Given the description of an element on the screen output the (x, y) to click on. 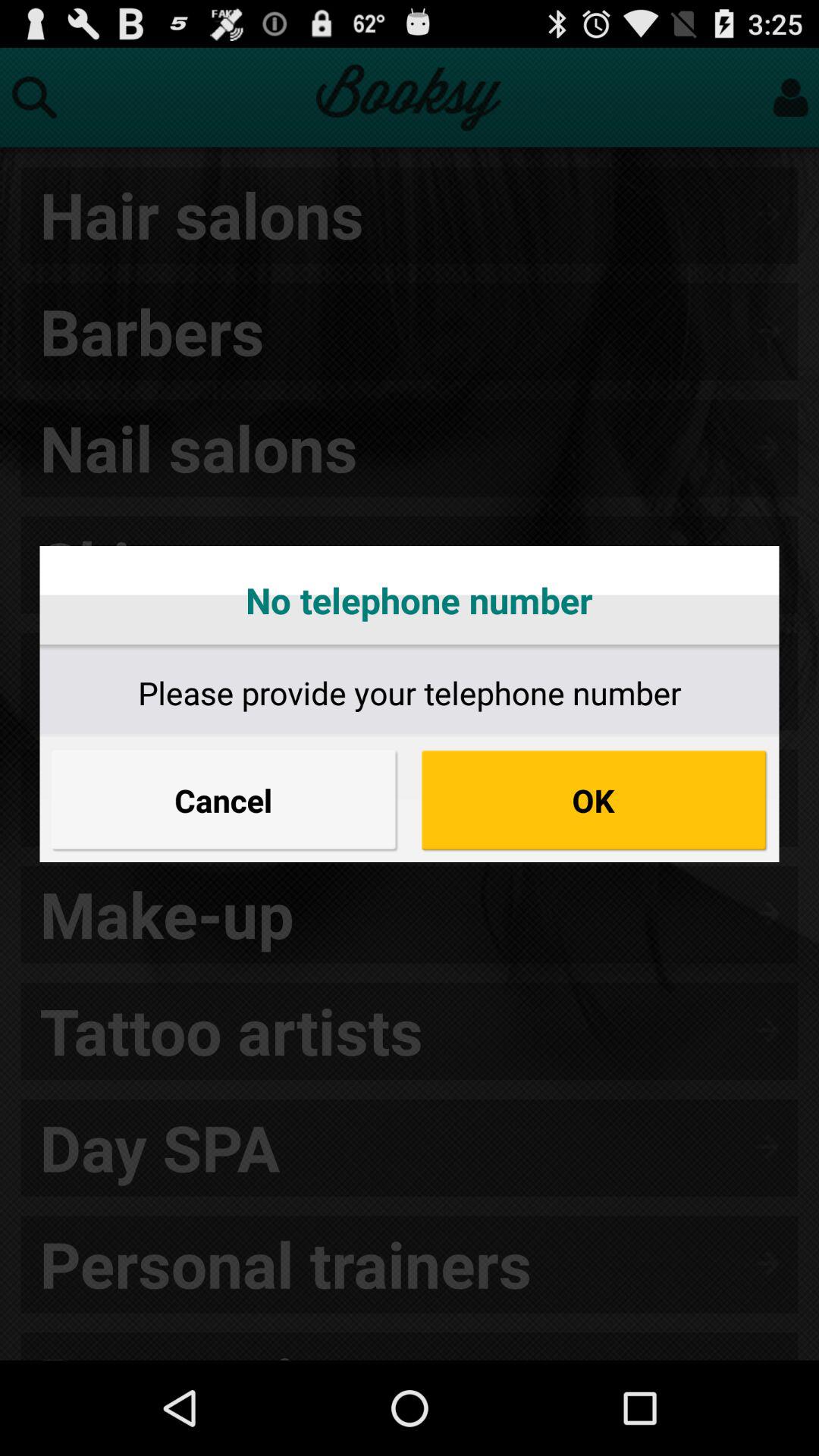
turn on ok item (593, 799)
